Given the description of an element on the screen output the (x, y) to click on. 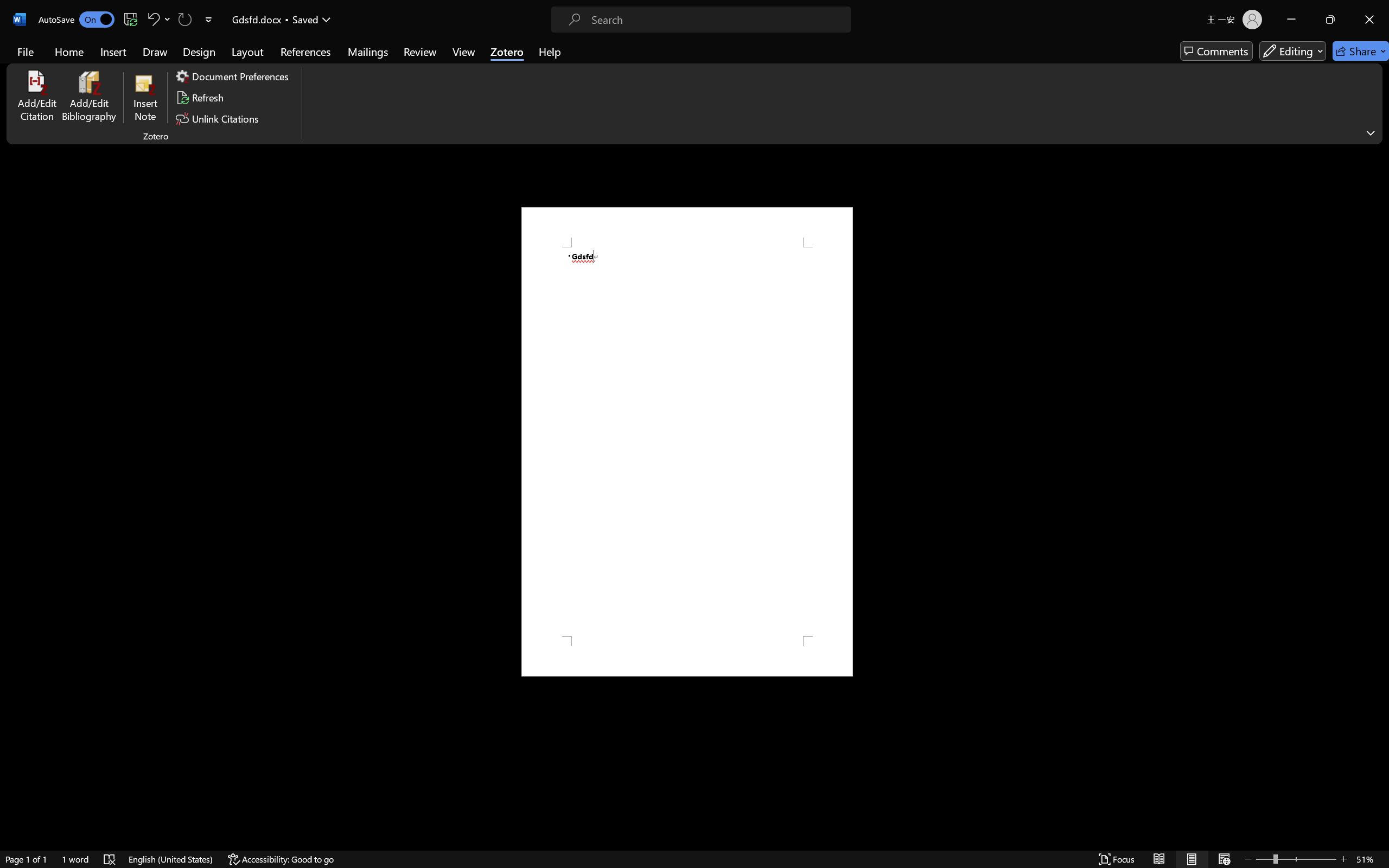
Page 1 content (686, 441)
